Given the description of an element on the screen output the (x, y) to click on. 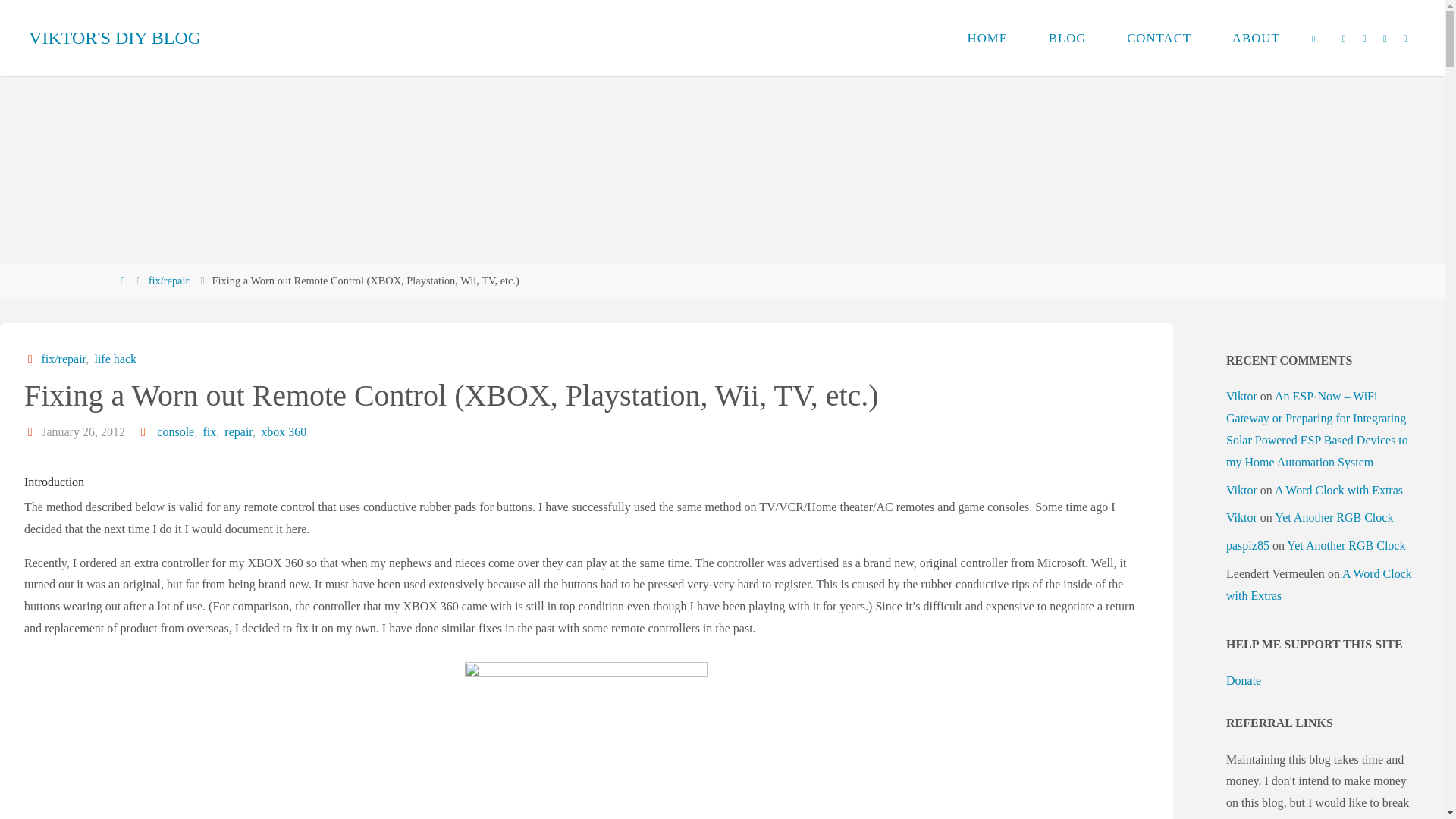
Tagged (143, 431)
ABOUT (1255, 38)
Date (31, 431)
VIKTOR'S DIY BLOG (114, 37)
CONTACT (1158, 38)
console (173, 431)
fix (207, 431)
BLOG (1066, 38)
Categories (31, 358)
beep... beep... blink... blink... (114, 37)
